Given the description of an element on the screen output the (x, y) to click on. 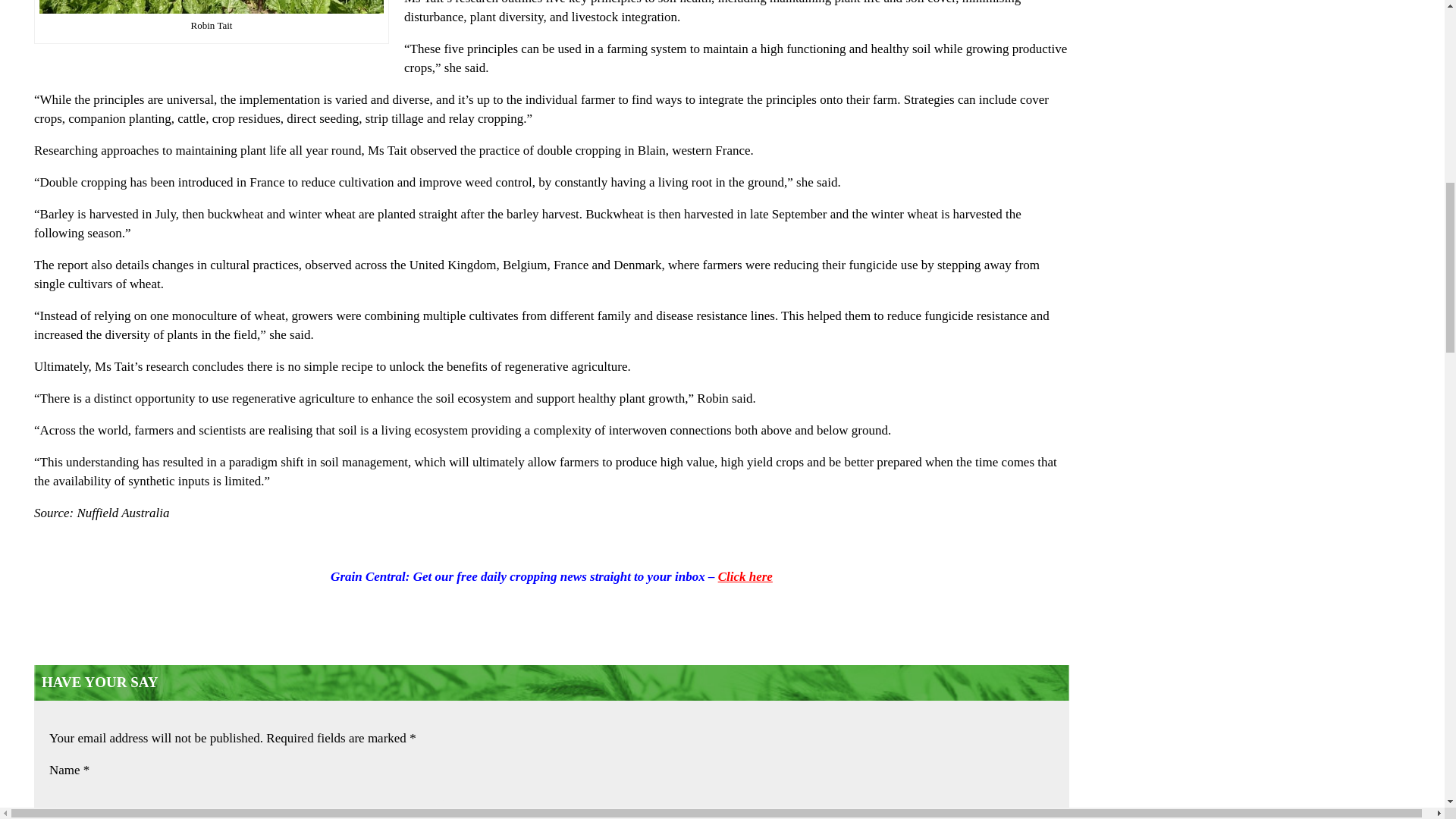
3rd party ad content (1296, 755)
3rd party ad content (1296, 172)
3rd party ad content (1296, 377)
3rd party ad content (1296, 31)
3rd party ad content (1296, 582)
Click here (745, 576)
